Given the description of an element on the screen output the (x, y) to click on. 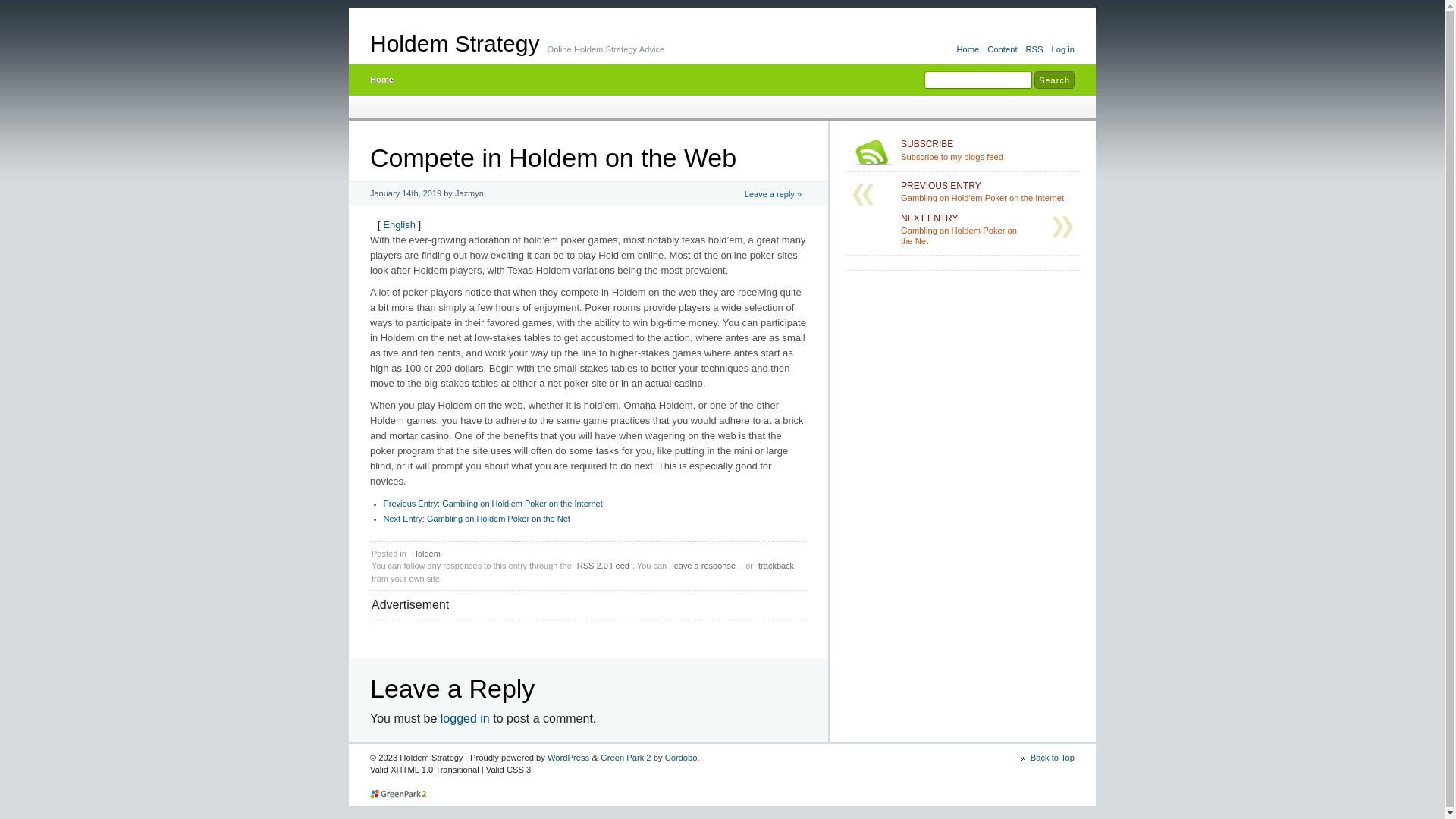
trackback Element type: text (776, 565)
Home Element type: text (380, 79)
English Element type: text (398, 224)
Log in Element type: text (1061, 49)
Home Element type: text (968, 49)
NEXT ENTRY
Gambling on Holdem Poker on the Net Element type: text (962, 229)
RSS Element type: text (1035, 49)
Back to Top Element type: text (1047, 757)
Cordobo Element type: text (681, 757)
Content Element type: text (1003, 49)
leave a response Element type: text (703, 565)
logged in Element type: text (464, 718)
SUBSCRIBE
Subscribe to my blogs feed Element type: text (987, 149)
Next Entry: Gambling on Holdem Poker on the Net Element type: text (476, 518)
Green Park 2 Element type: text (625, 757)
Search Element type: text (1054, 79)
Cordobo Green Park 2 Element type: hover (398, 793)
RSS 2.0 Feed Element type: text (603, 565)
WordPress Element type: text (568, 757)
Holdem Element type: text (425, 553)
Holdem Strategy Element type: text (454, 43)
